Given the description of an element on the screen output the (x, y) to click on. 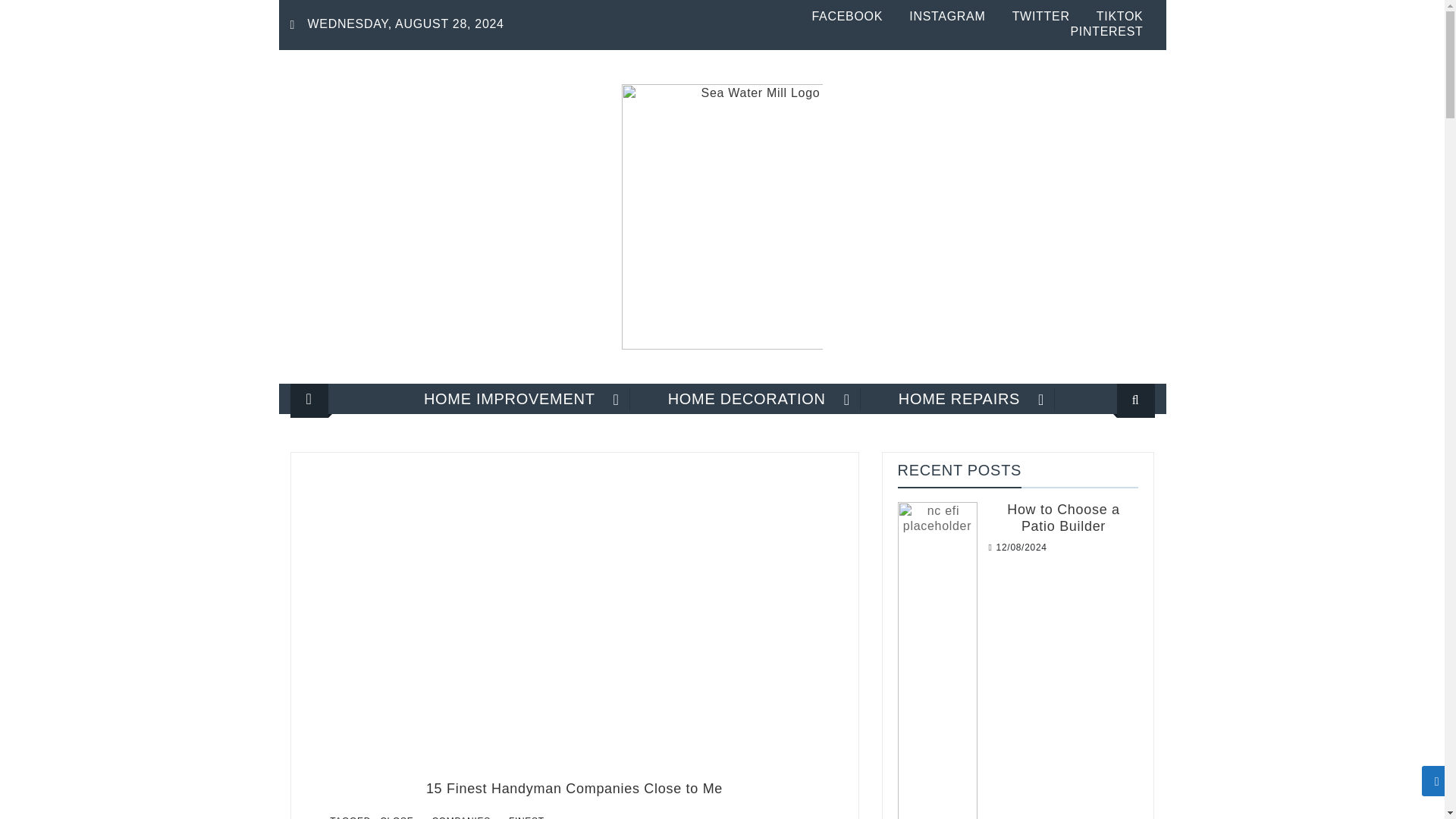
FINEST (526, 816)
INSTAGRAM (946, 15)
TIKTOK (1119, 15)
FACEBOOK (846, 15)
COMPANIES (460, 816)
Search (1116, 448)
CLOSE (396, 816)
HOME IMPROVEMENT (510, 399)
How to Choose a Patio Builder (1063, 517)
